Given the description of an element on the screen output the (x, y) to click on. 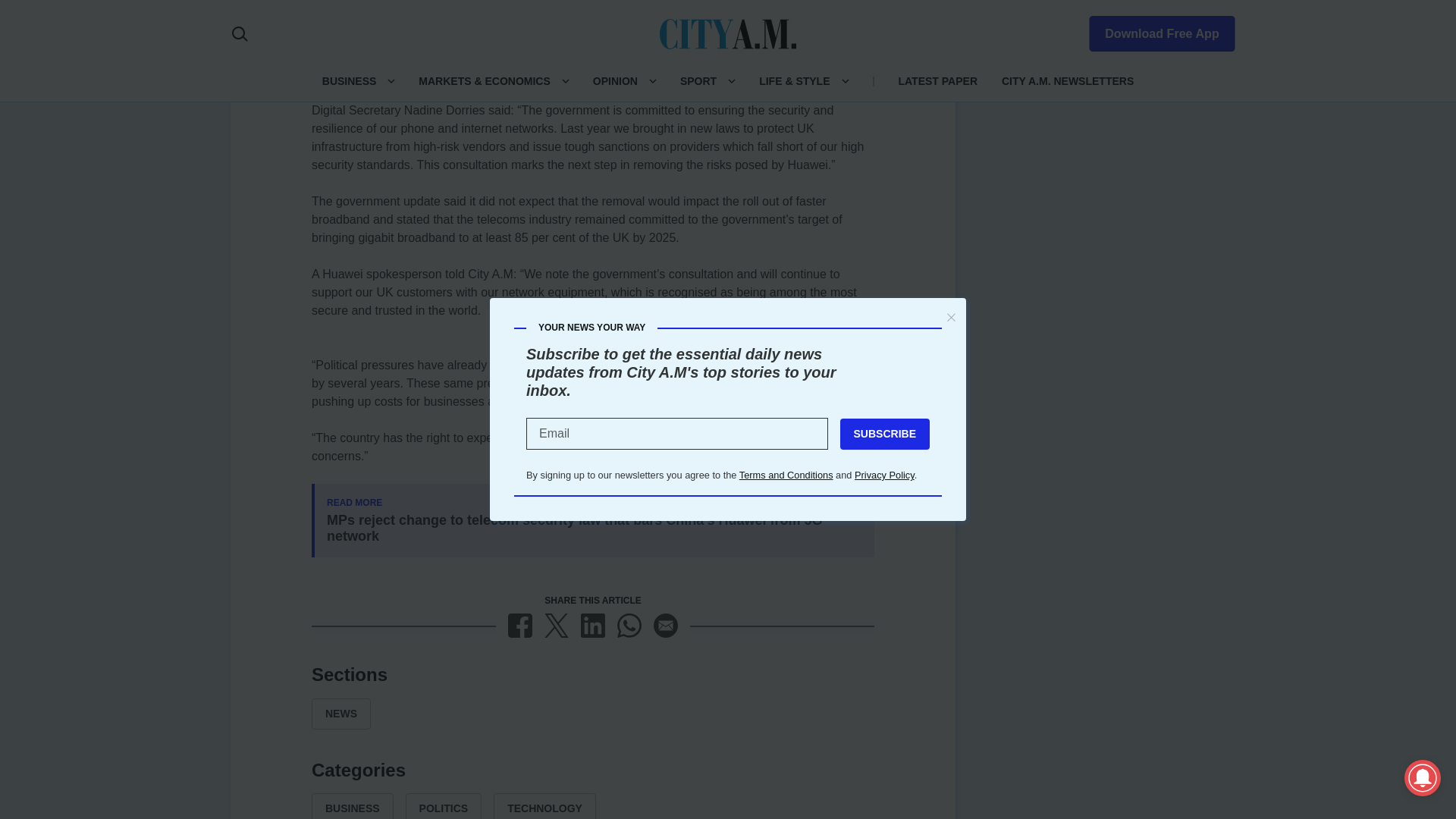
WhatsApp (629, 625)
Facebook (520, 625)
LinkedIn (592, 625)
X (556, 625)
Email (665, 625)
